Given the description of an element on the screen output the (x, y) to click on. 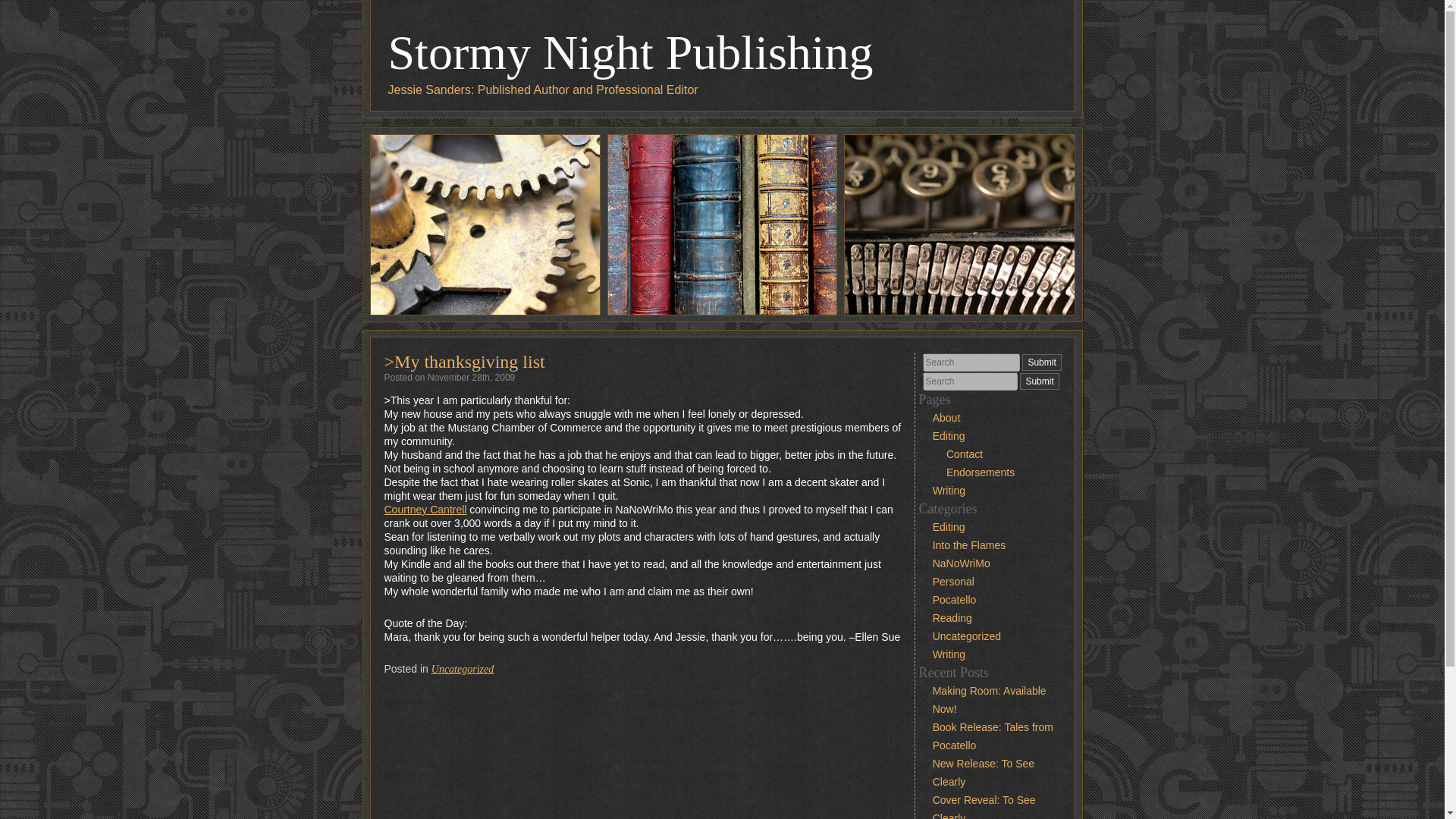
New Release: To See Clearly (983, 772)
Uncategorized (461, 668)
Submit (1041, 362)
Cover Reveal: To See Clearly (984, 806)
Submit (1039, 381)
Uncategorized (967, 635)
Search (970, 361)
Endorsements (980, 472)
NaNoWriMo (961, 563)
Pocatello (954, 599)
